Given the description of an element on the screen output the (x, y) to click on. 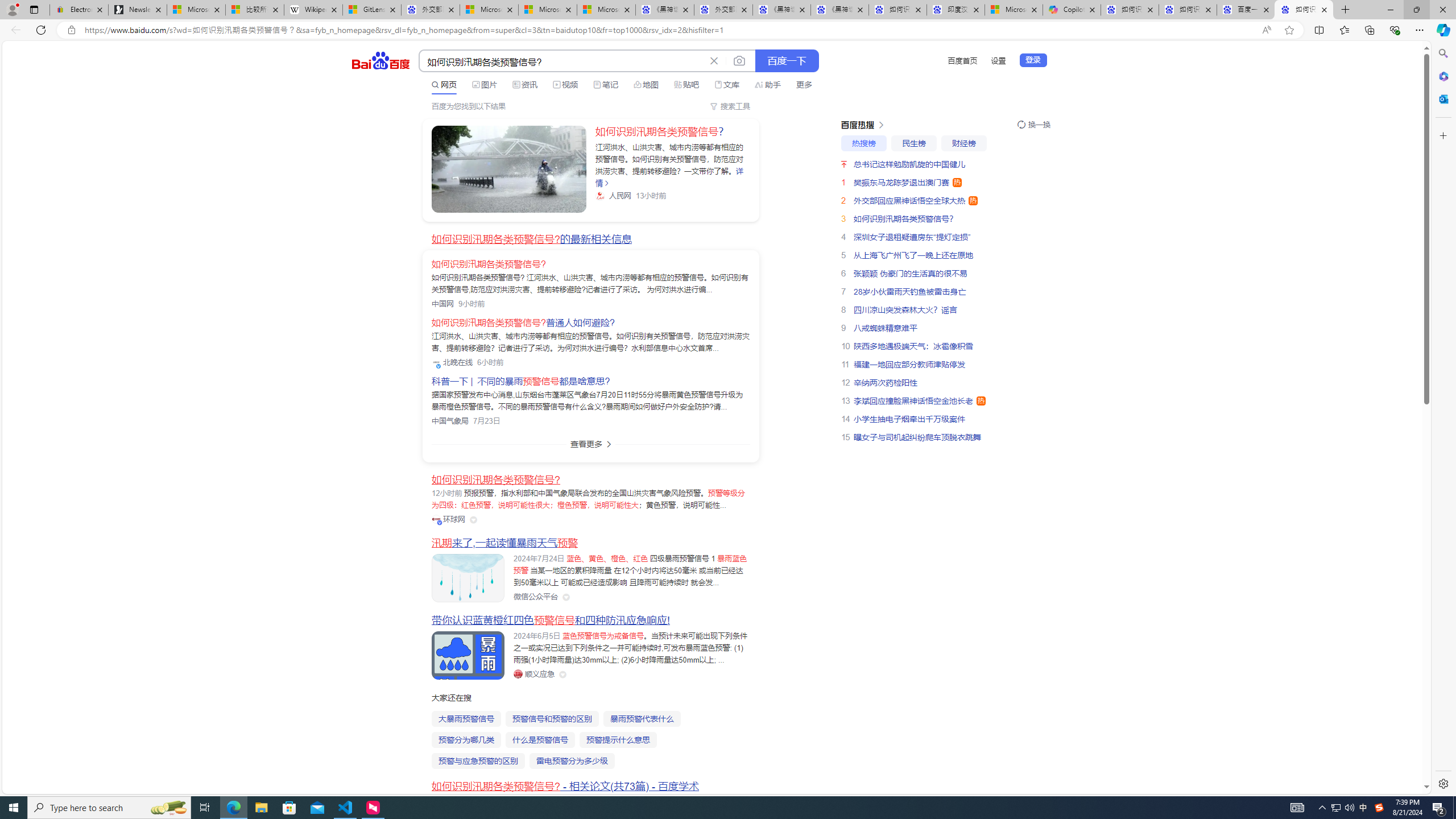
Newsletter Sign Up (137, 9)
Copilot (1071, 9)
Class: sc-link _link_kwqvb_2 -v-color-primary block (508, 168)
